Given the description of an element on the screen output the (x, y) to click on. 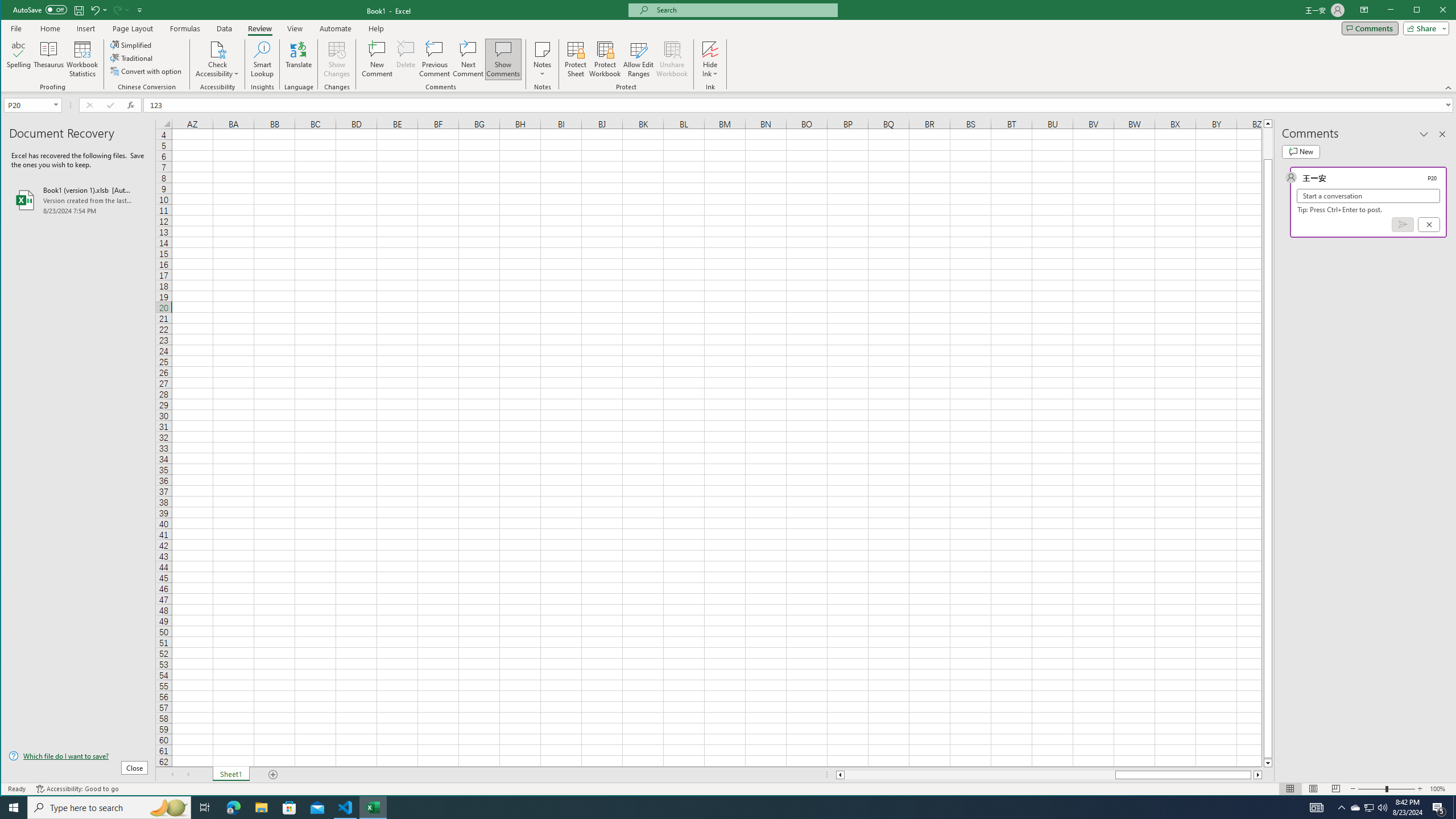
Show Changes (335, 59)
File Explorer (261, 807)
Protect Sheet... (575, 59)
User Promoted Notification Area (1368, 807)
